Given the description of an element on the screen output the (x, y) to click on. 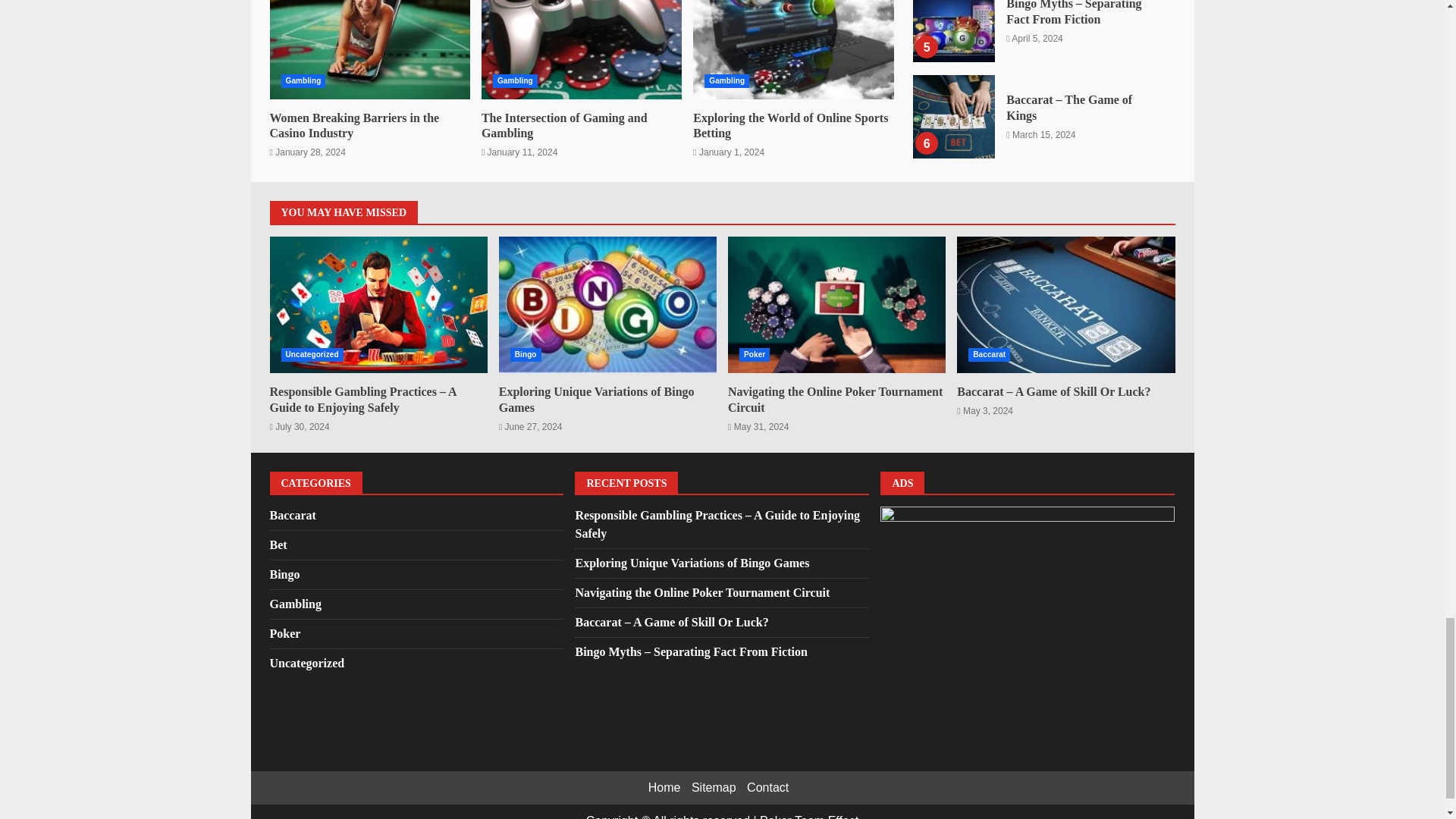
Exploring the World of Online Sports Betting (793, 49)
Gambling (515, 80)
Exploring the World of Online Sports Betting (790, 125)
Gambling (302, 80)
Women Breaking Barriers in the Casino Industry (354, 125)
The Intersection of Gaming and Gambling (564, 125)
Women Breaking Barriers in the Casino Industry (369, 49)
Gambling (726, 80)
The Intersection of Gaming and Gambling (581, 49)
